Given the description of an element on the screen output the (x, y) to click on. 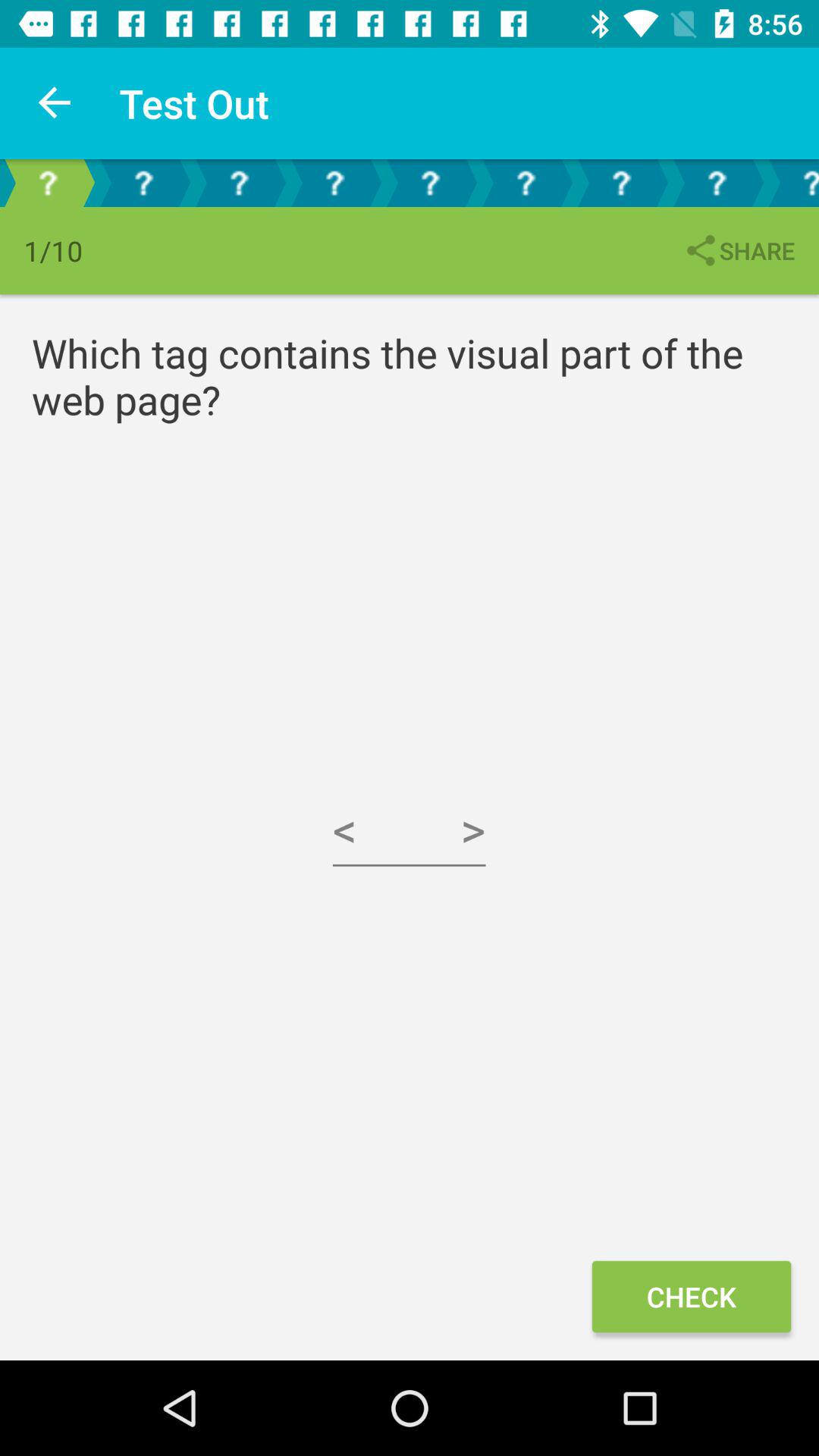
launch icon below the which tag contains icon (408, 829)
